Given the description of an element on the screen output the (x, y) to click on. 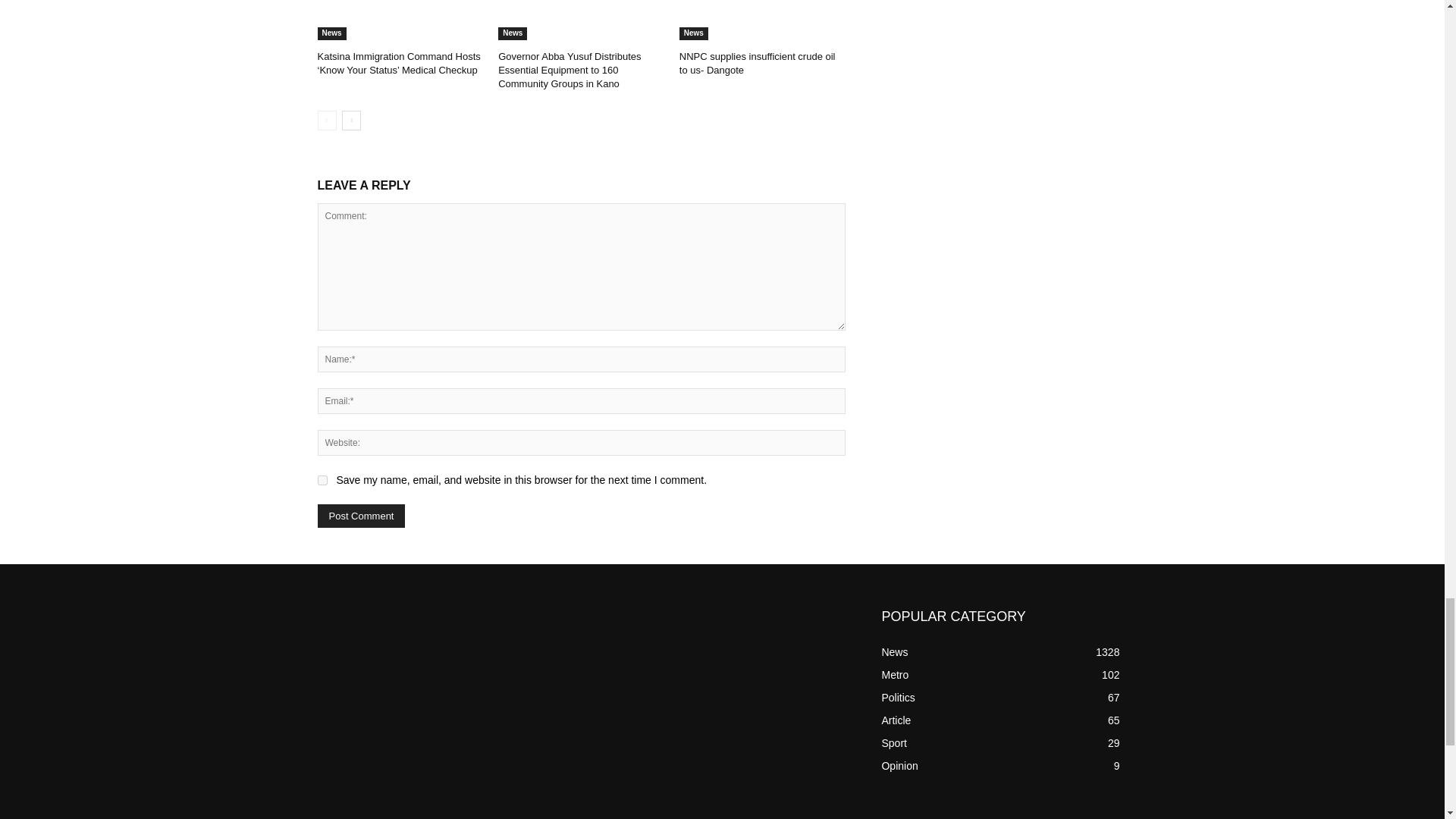
yes (321, 480)
Post Comment (360, 515)
